Given the description of an element on the screen output the (x, y) to click on. 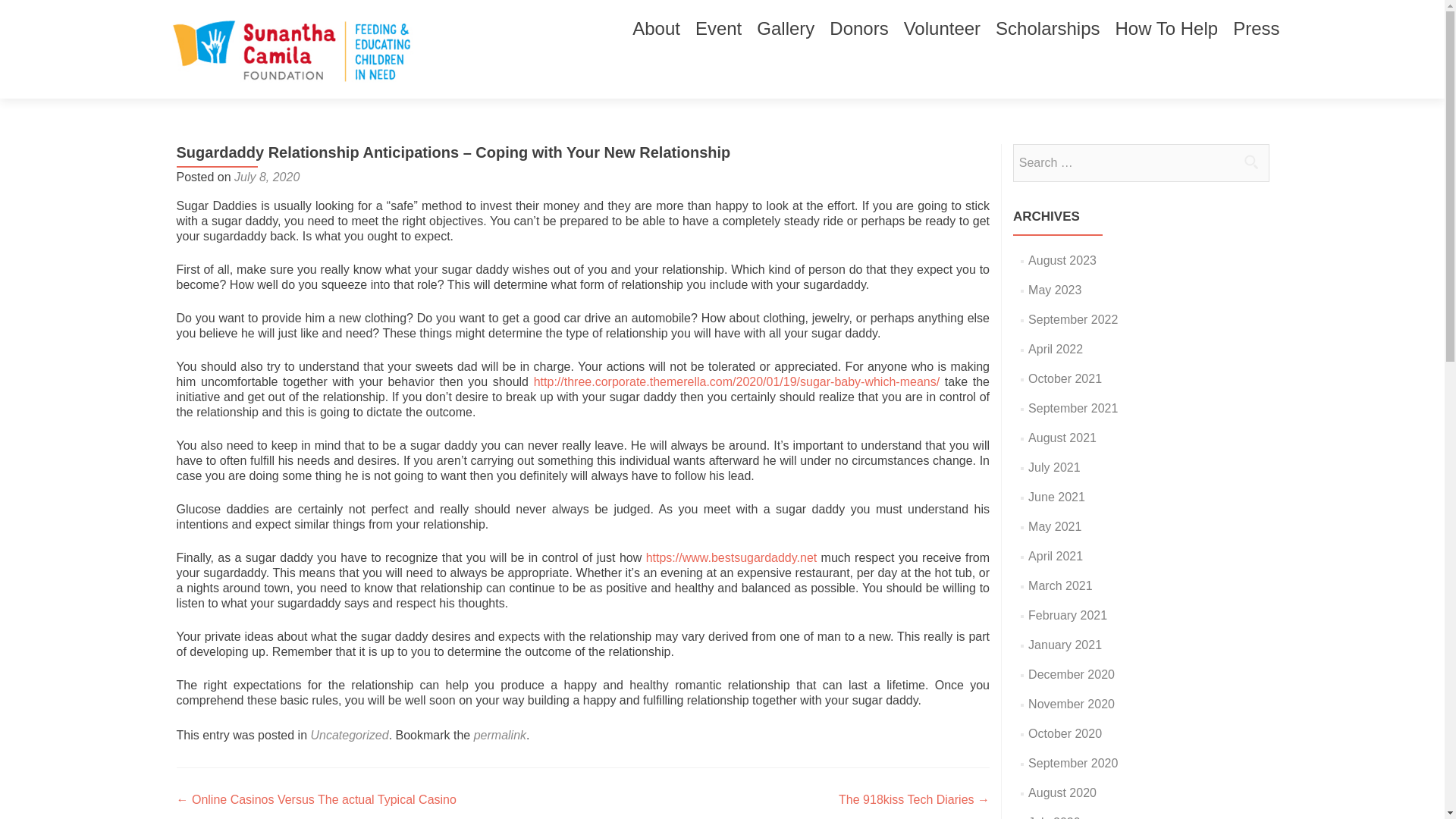
October 2021 (1064, 378)
Scholarships (1047, 28)
September 2021 (1072, 408)
Search (1250, 161)
Search (1250, 161)
July 2021 (1053, 467)
permalink (499, 735)
About (655, 28)
Gallery (785, 28)
June 2021 (1055, 496)
